Given the description of an element on the screen output the (x, y) to click on. 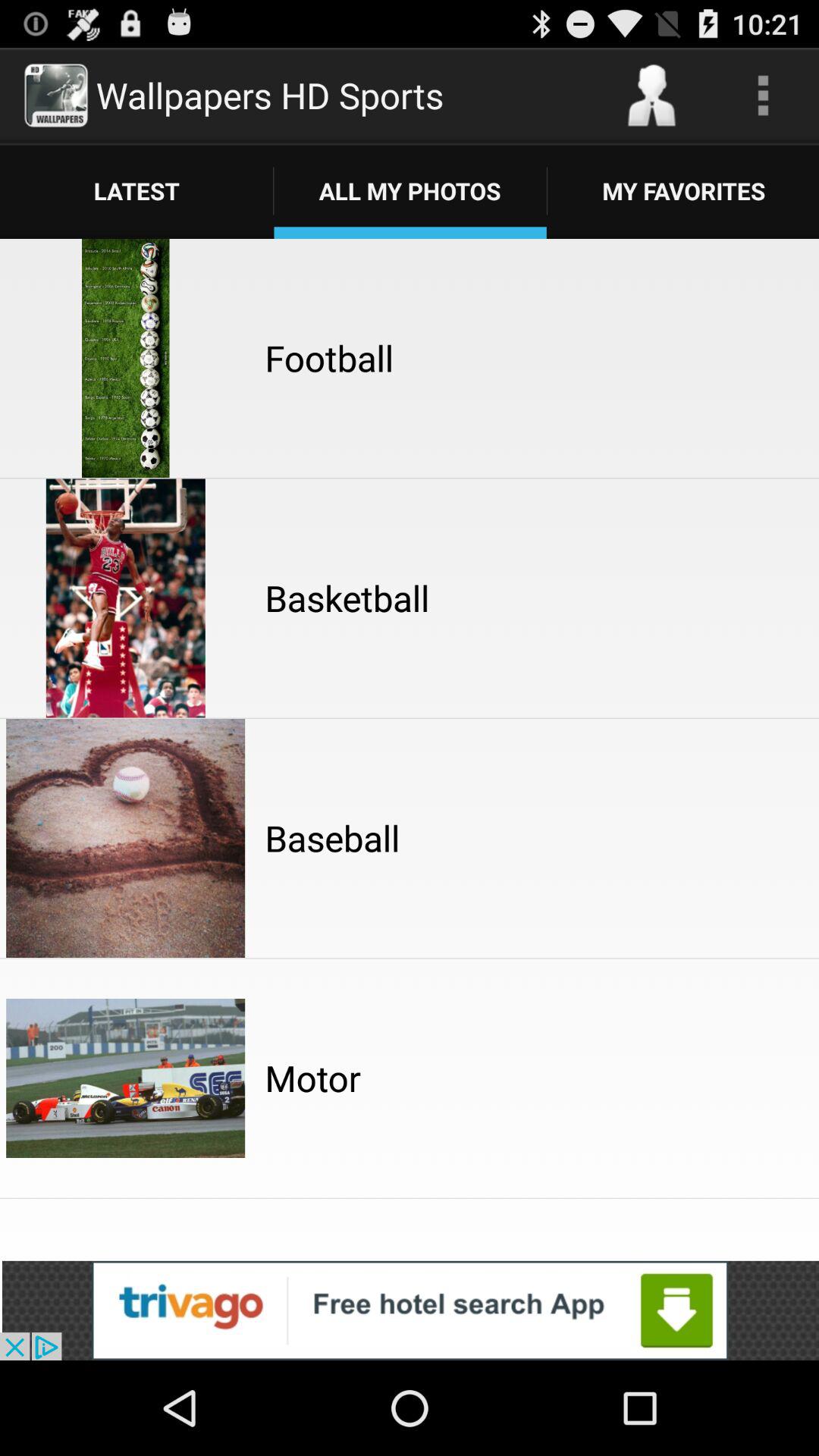
setting (763, 95)
